Given the description of an element on the screen output the (x, y) to click on. 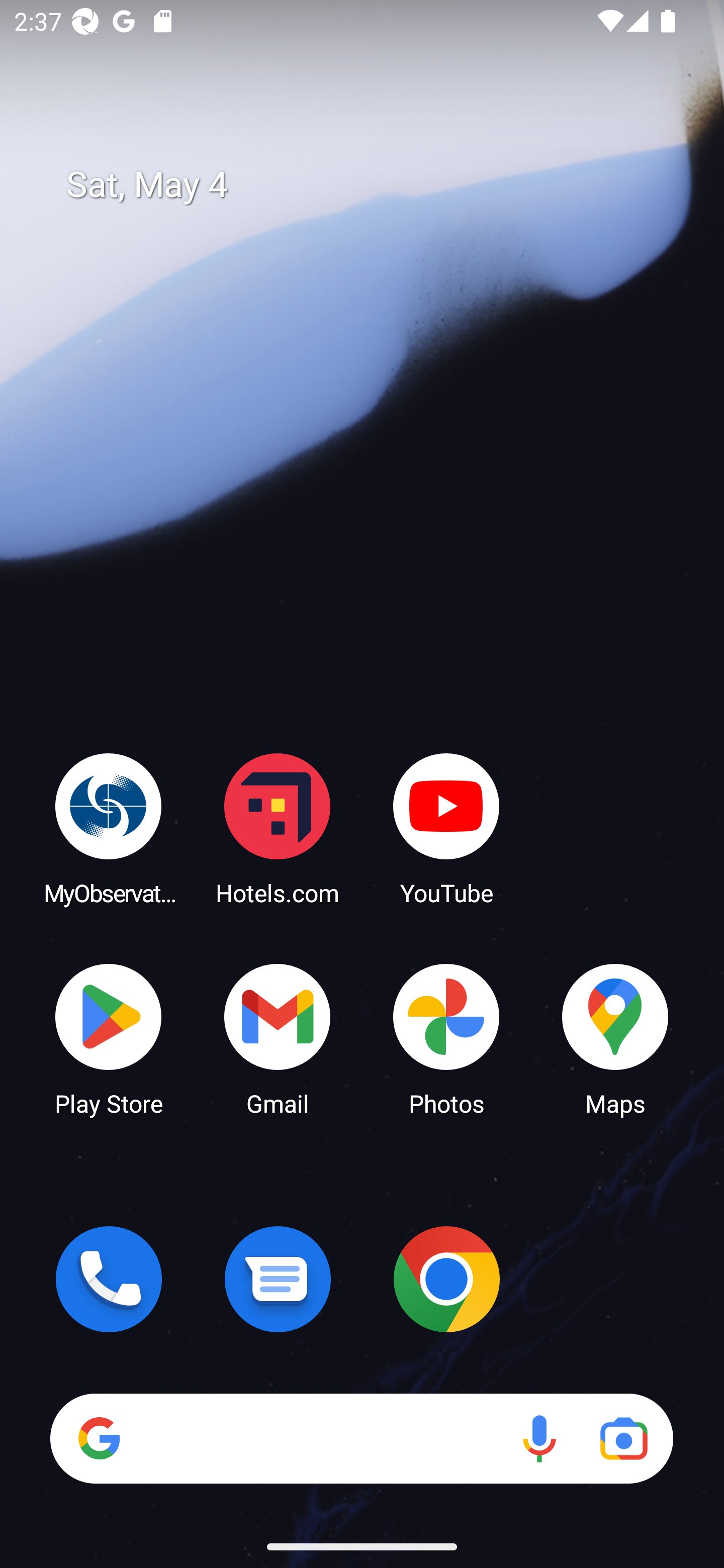
Sat, May 4 (375, 184)
MyObservatory (108, 828)
Hotels.com (277, 828)
YouTube (445, 828)
Play Store (108, 1038)
Gmail (277, 1038)
Photos (445, 1038)
Maps (615, 1038)
Phone (108, 1279)
Messages (277, 1279)
Chrome (446, 1279)
Search Voice search Google Lens (361, 1438)
Voice search (539, 1438)
Google Lens (623, 1438)
